Given the description of an element on the screen output the (x, y) to click on. 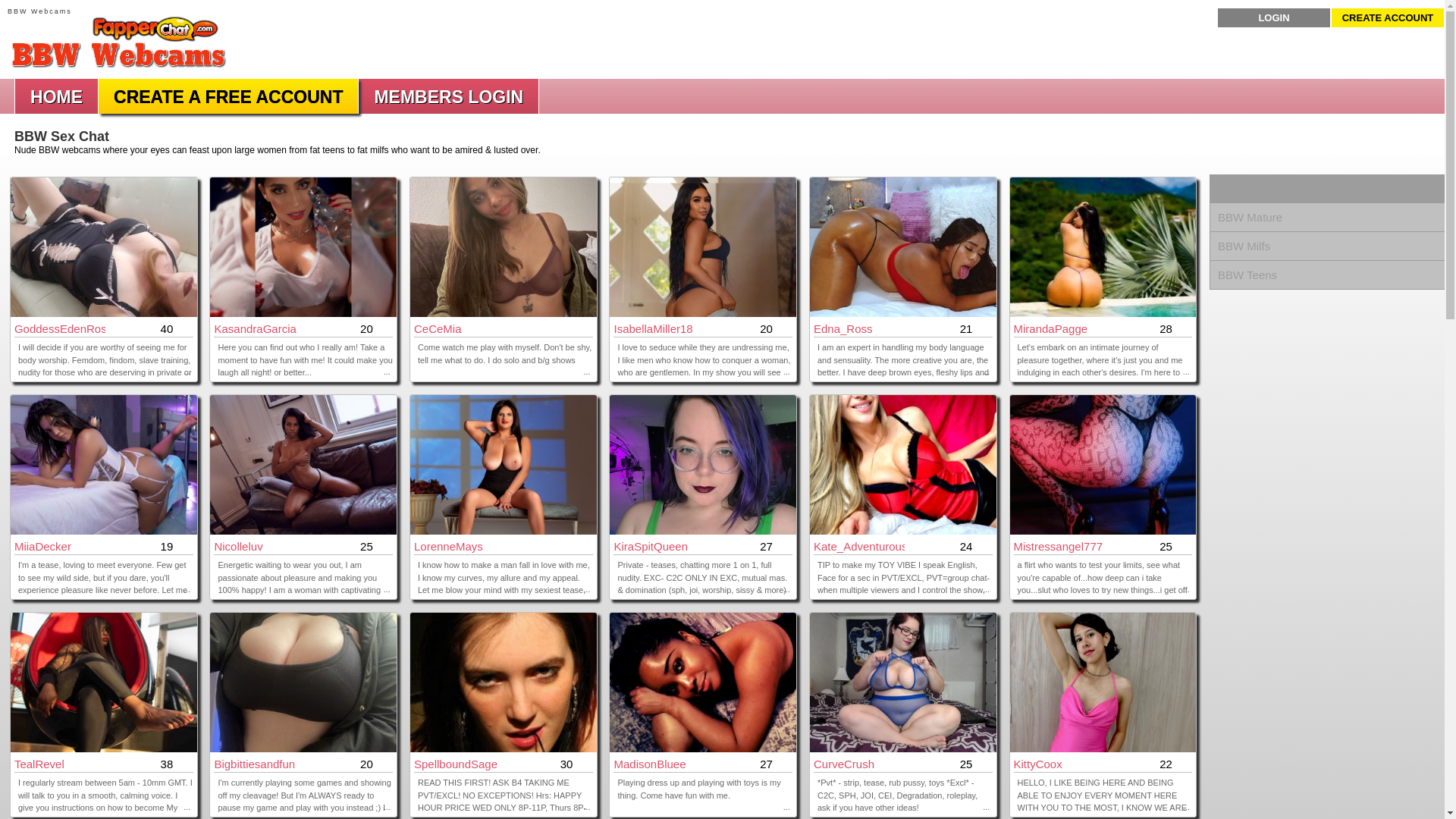
CREATE ACCOUNT (1388, 17)
MEMBERS LOGIN (448, 96)
LOGIN (1273, 17)
MirandaPagge (1058, 328)
Bigbittiesandfun (259, 763)
MirandaPagge (1058, 328)
KasandraGarcia (259, 328)
Mistressangel777 (1058, 545)
Nicolleluv (259, 545)
IsabellaMiller18 (658, 328)
LorenneMays (459, 545)
CeCeMia (459, 328)
HOME (56, 96)
MadisonBluee (658, 763)
CeCeMia (503, 313)
